Given the description of an element on the screen output the (x, y) to click on. 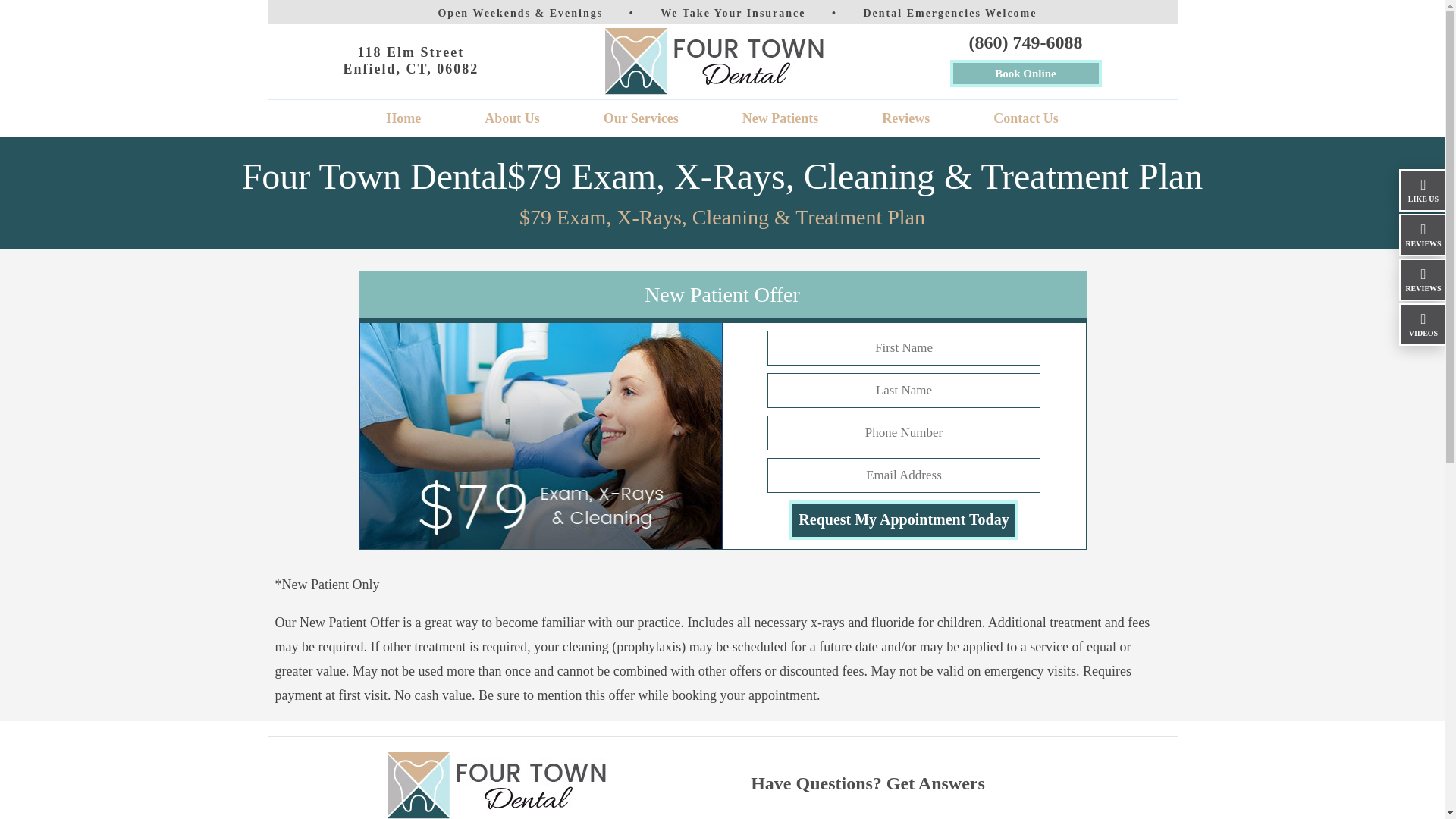
Home (403, 117)
Book Online (1024, 73)
Dentist Enfield, CT (403, 117)
About Us (512, 117)
Our Services (410, 60)
We Take Your Insurance (641, 117)
Dental Emergencies Welcome (733, 12)
About Us (949, 12)
Dental Services (512, 117)
